Given the description of an element on the screen output the (x, y) to click on. 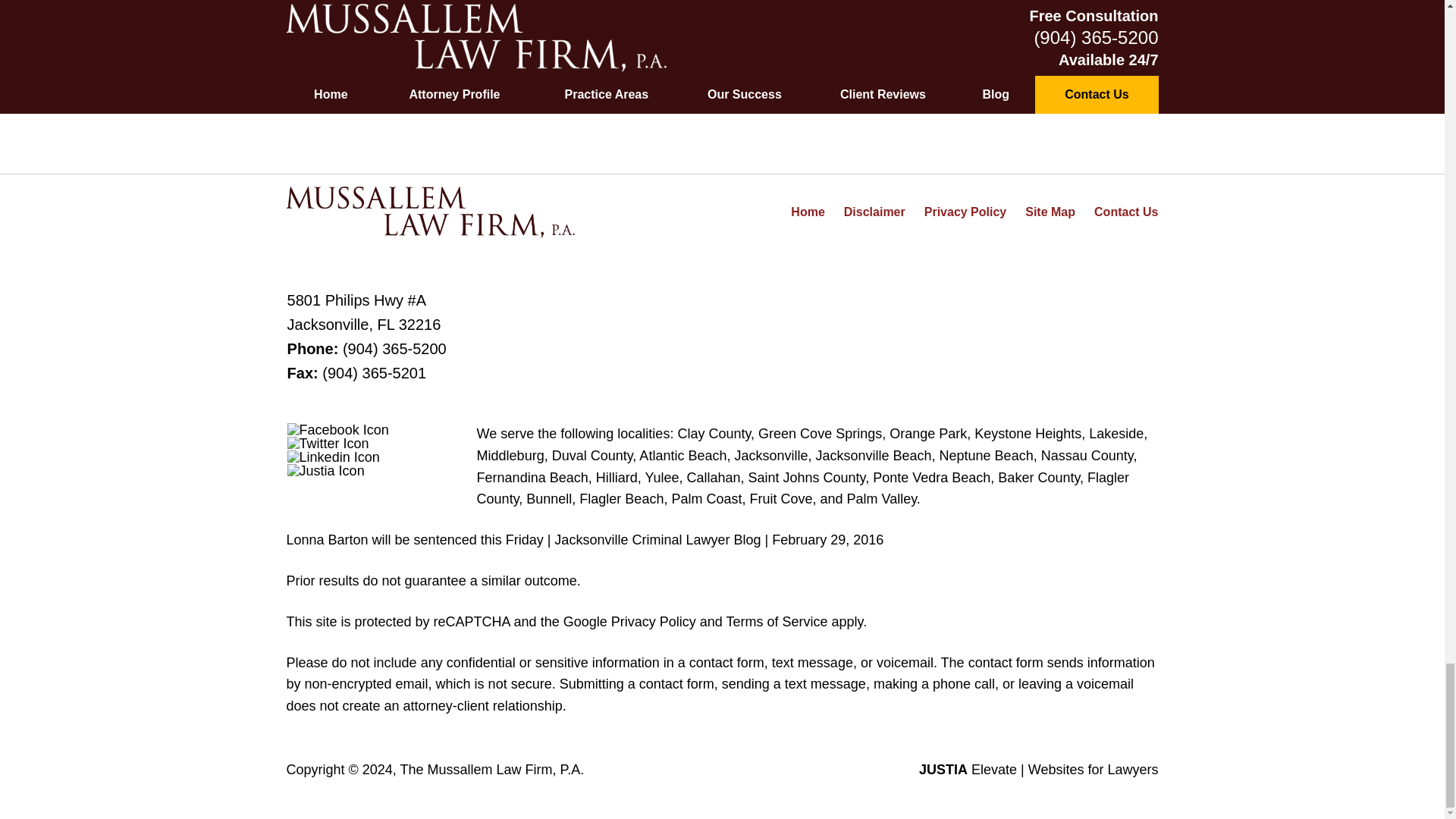
Twitter (327, 443)
Facebook (337, 429)
Linkedin (333, 457)
Justia (325, 470)
